Given the description of an element on the screen output the (x, y) to click on. 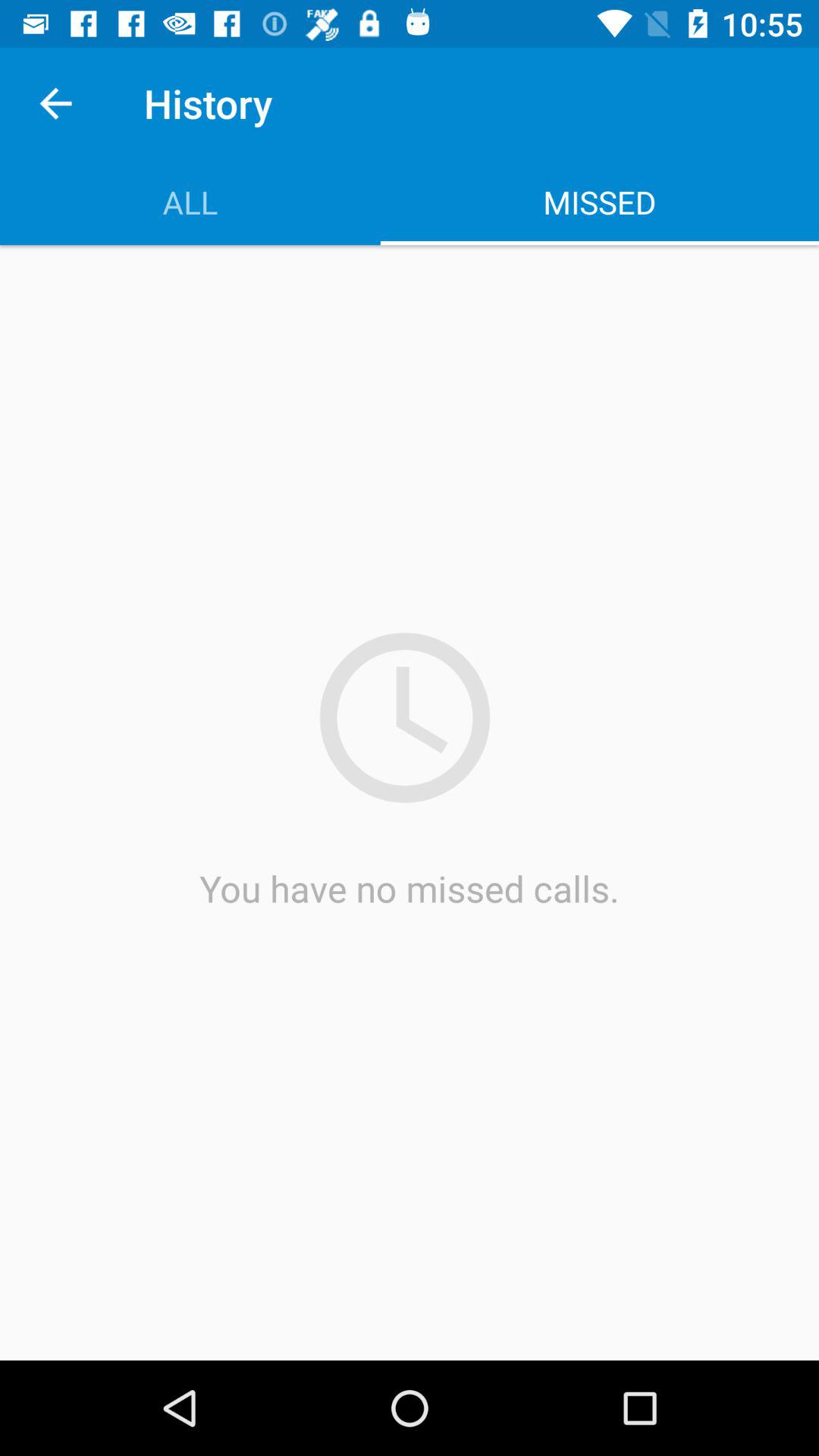
click app above all item (55, 103)
